Given the description of an element on the screen output the (x, y) to click on. 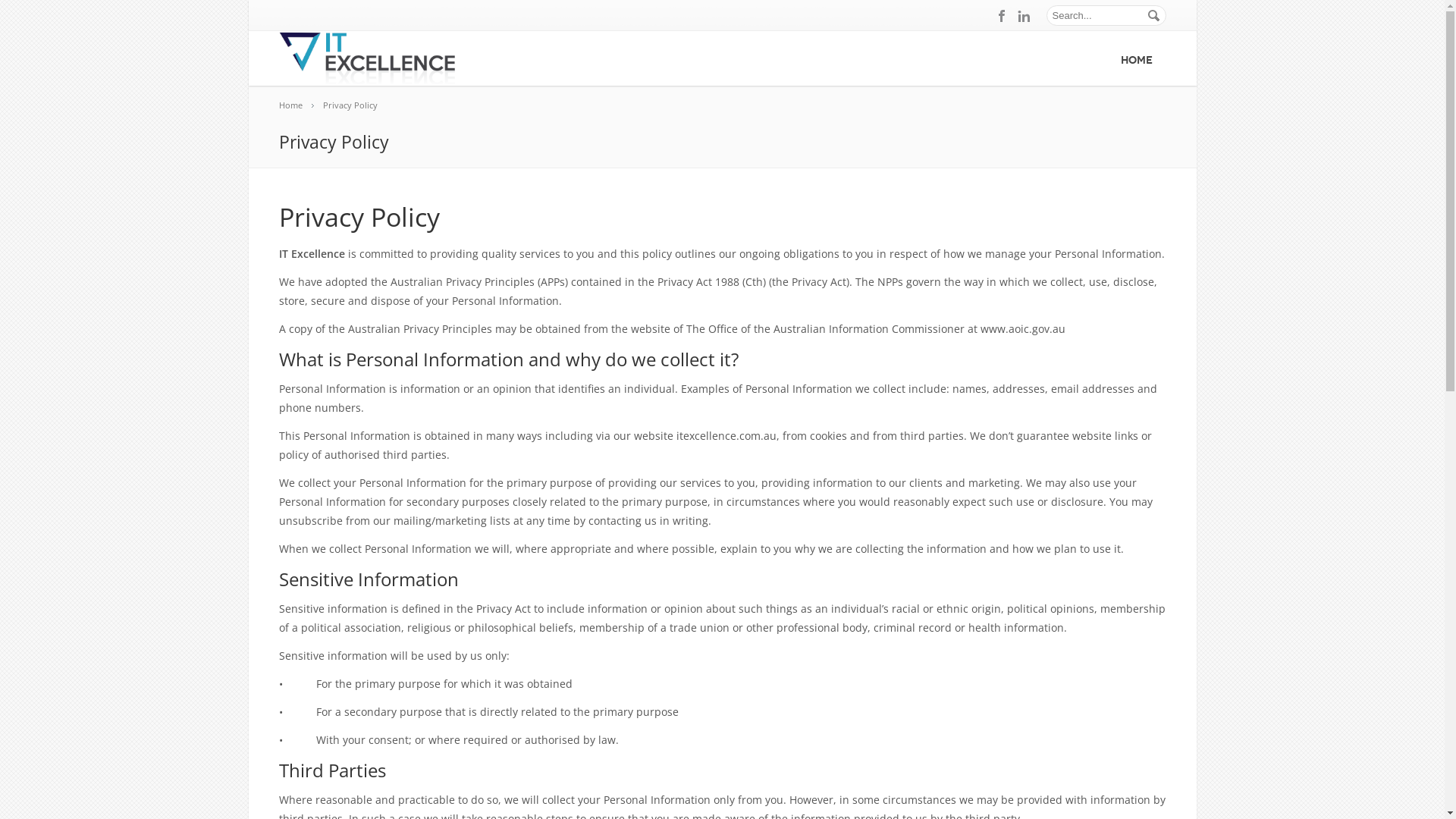
linkedin Element type: text (1156, 792)
facebook Element type: text (1002, 15)
Click here to read our privacy policy Element type: text (1041, 708)
Home Element type: text (298, 104)
HOME Element type: text (1136, 58)
linkedin Element type: text (1023, 15)
Search Element type: text (47, 15)
Privacy Policy Element type: text (357, 104)
